Given the description of an element on the screen output the (x, y) to click on. 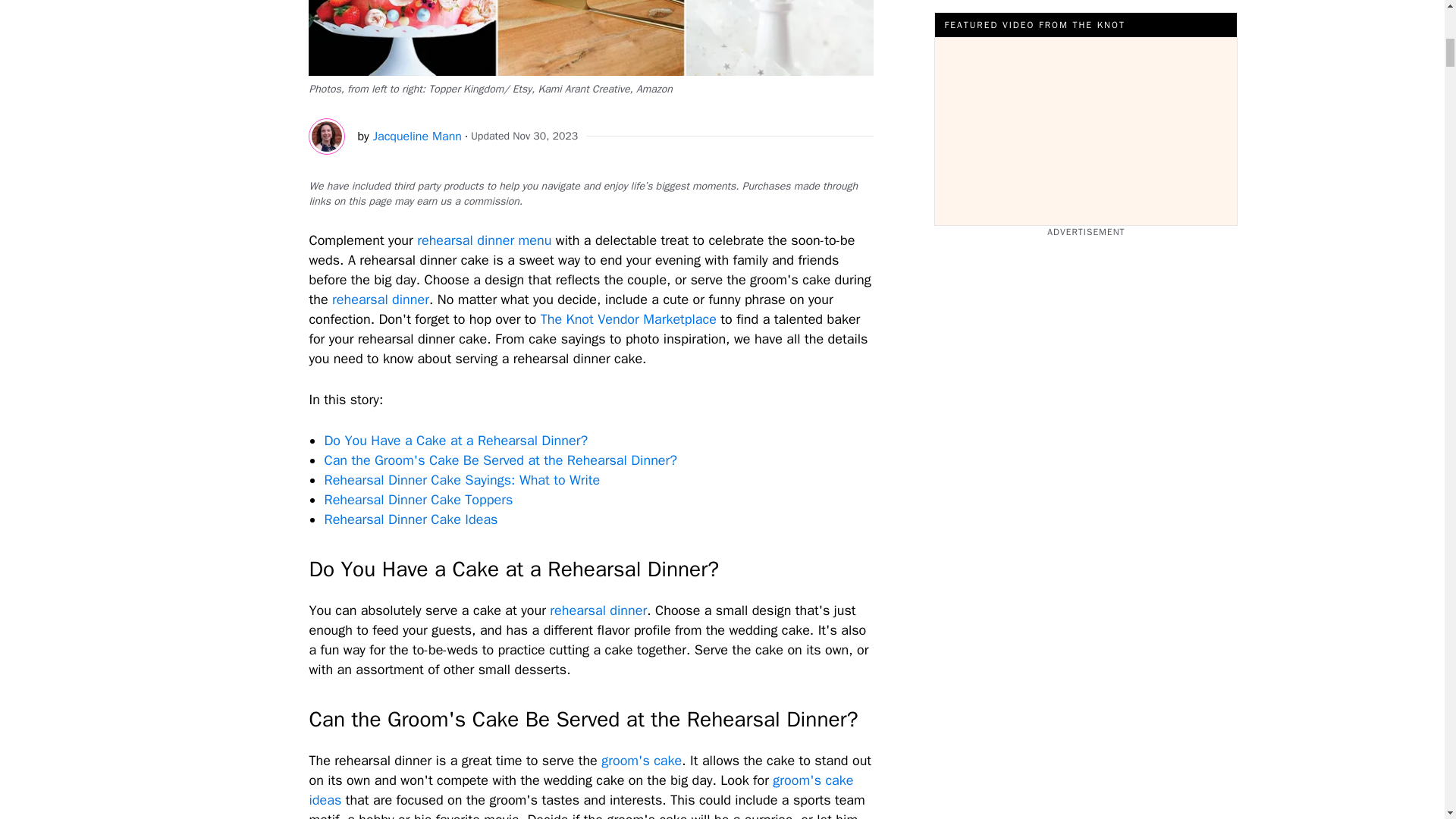
3rd party ad content (1085, 112)
